Given the description of an element on the screen output the (x, y) to click on. 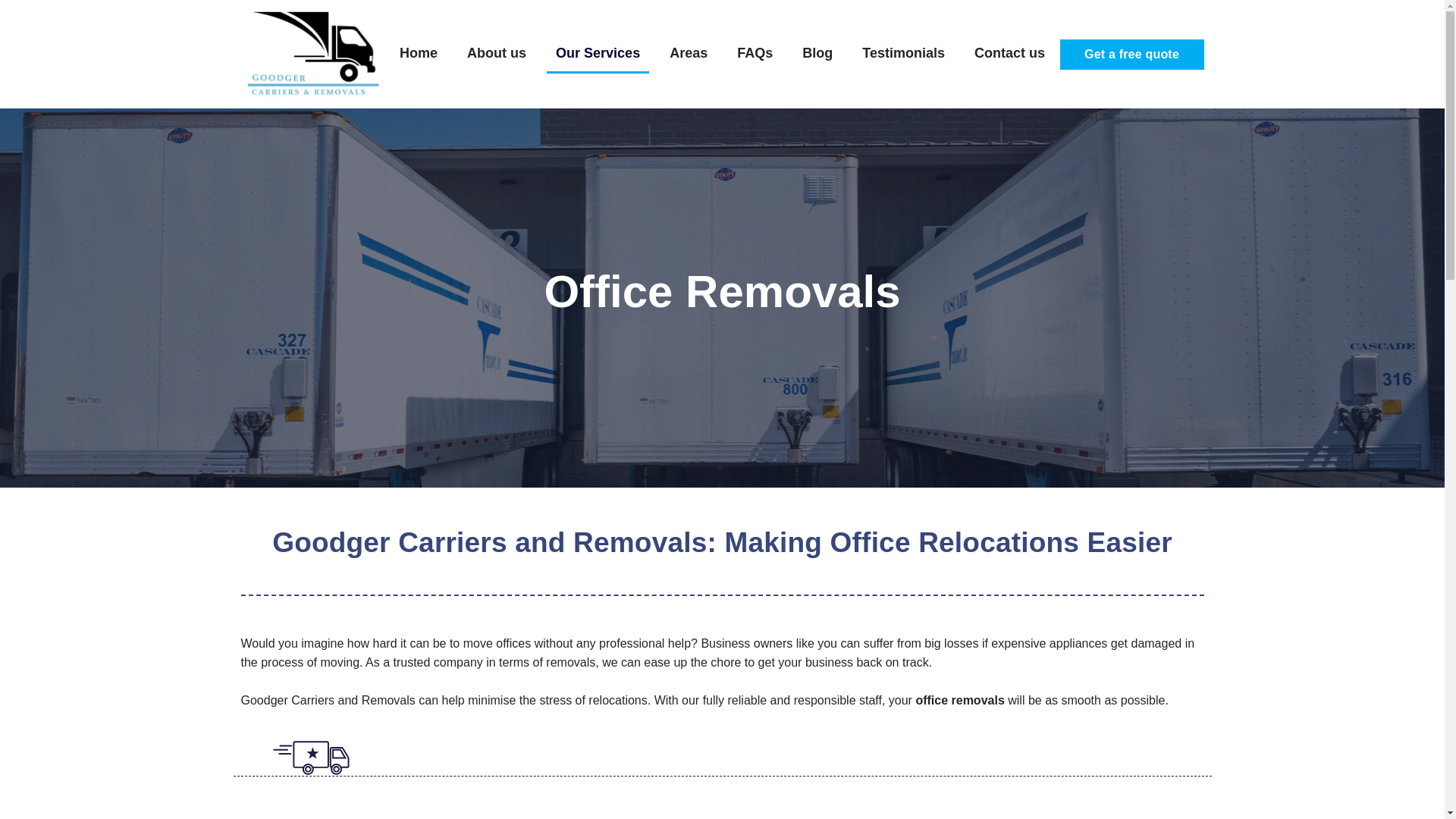
About us (496, 54)
Home (418, 54)
Areas (688, 54)
Blog (817, 54)
FAQs (754, 54)
Contact us (1009, 54)
Testimonials (903, 54)
Our Services (598, 54)
car-icon (310, 757)
